Given the description of an element on the screen output the (x, y) to click on. 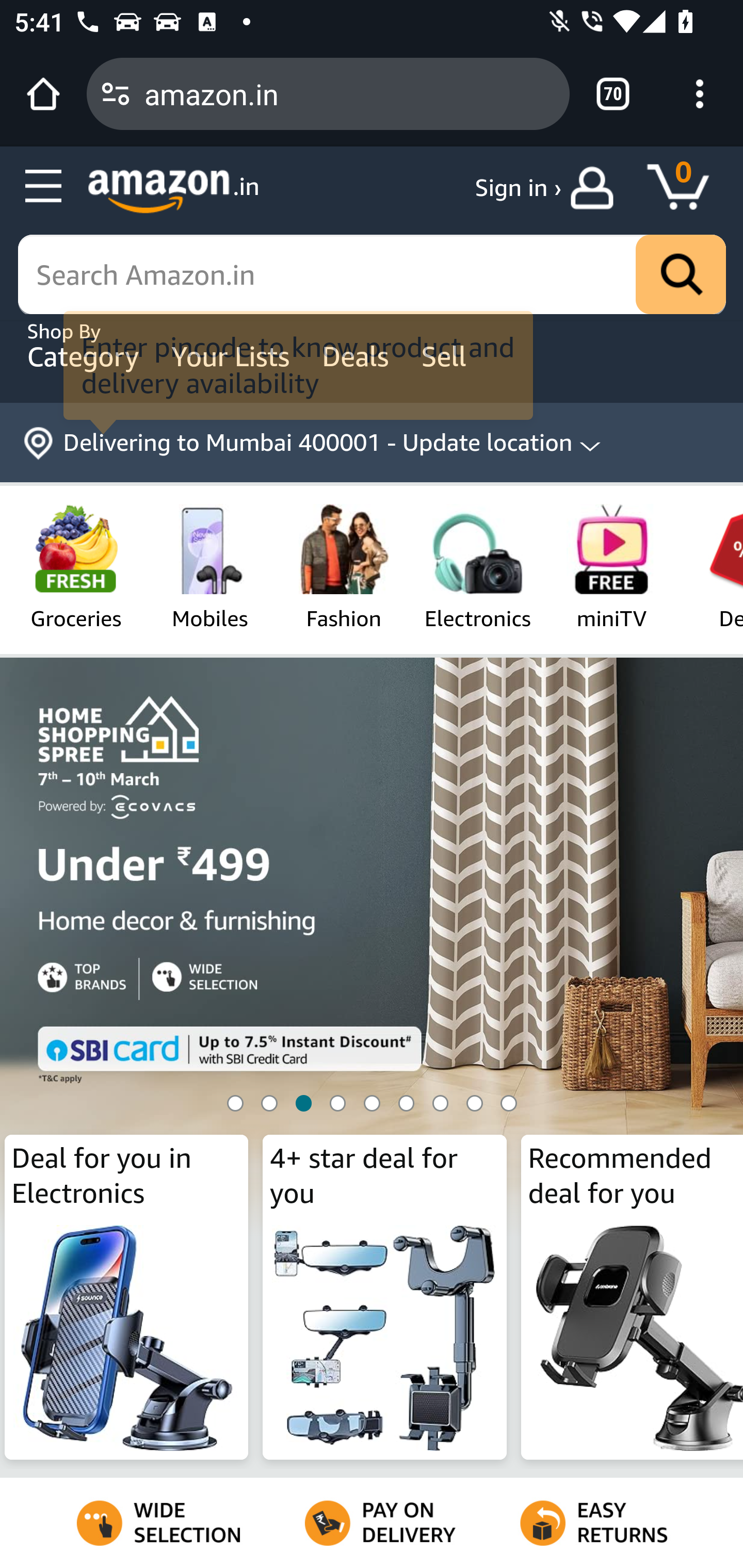
Open the home page (43, 93)
Connection is secure (115, 93)
Switch or close tabs (612, 93)
Customize and control Google Chrome (699, 93)
amazon.in (349, 92)
Open Menu (44, 187)
Sign in › (518, 188)
your account (596, 188)
Cart 0 (687, 188)
Amazon.in .in (173, 191)
Go (681, 275)
Category Shop By Category Shop By (84, 355)
Your Lists (232, 355)
Deals (358, 355)
Sell (457, 355)
Groceries Groceries Groceries Groceries (75, 566)
Mobiles Mobiles Mobiles Mobiles (209, 566)
Fashion Fashion Fashion Fashion (343, 566)
Electronics Electronics Electronics Electronics (477, 566)
miniTV miniTV miniTV miniTV (611, 566)
HSS (371, 982)
Pay on delivery (371, 1522)
